Given the description of an element on the screen output the (x, y) to click on. 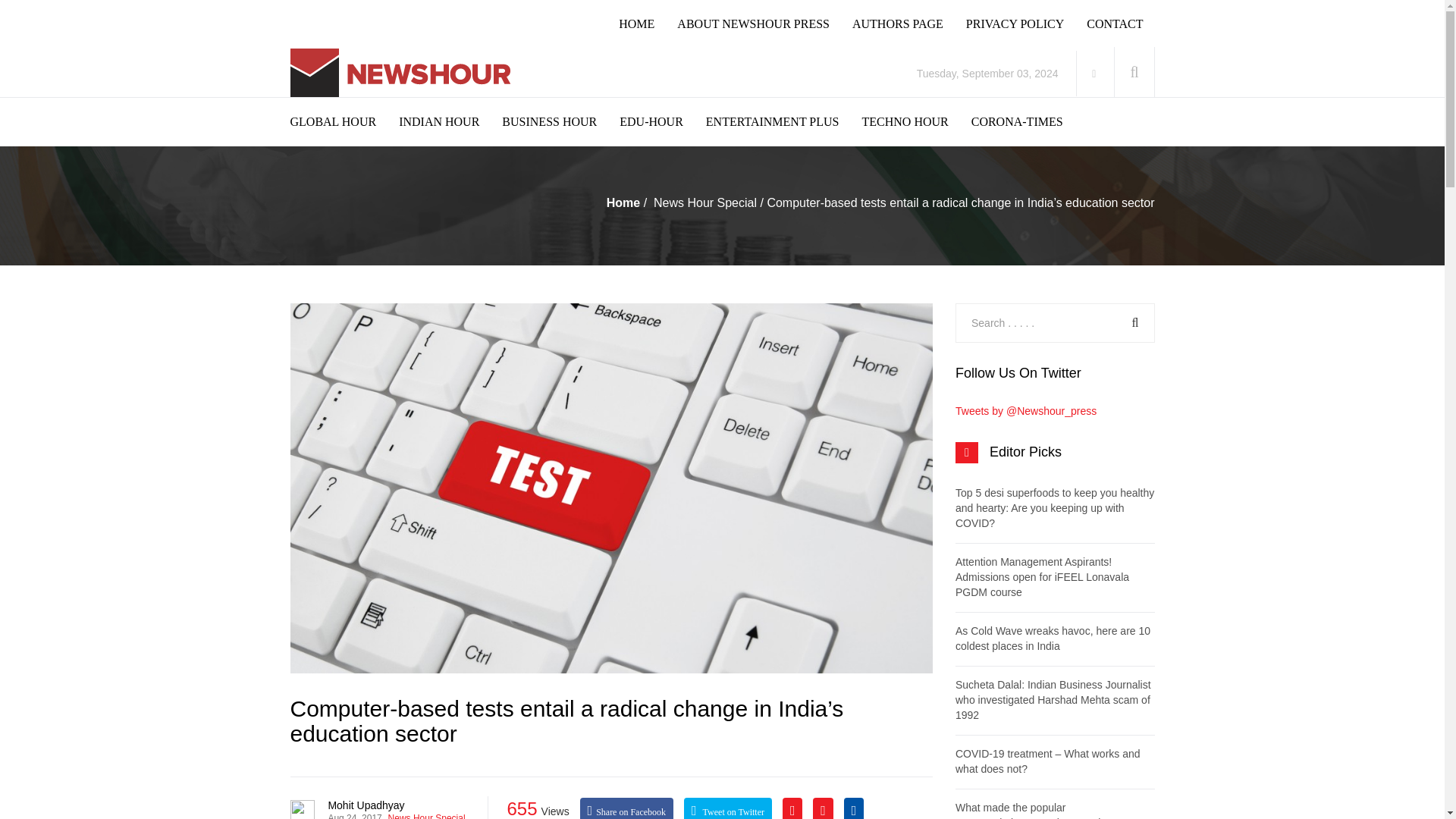
ABOUT NEWSHOUR PRESS (764, 23)
Logo (403, 72)
CONTACT (1126, 23)
CORONA-TIMES (1028, 121)
Home (623, 202)
TECHNO HOUR (916, 121)
News Hour Special (705, 202)
GLOBAL HOUR (343, 121)
INDIAN HOUR (450, 121)
HOME (647, 23)
